Given the description of an element on the screen output the (x, y) to click on. 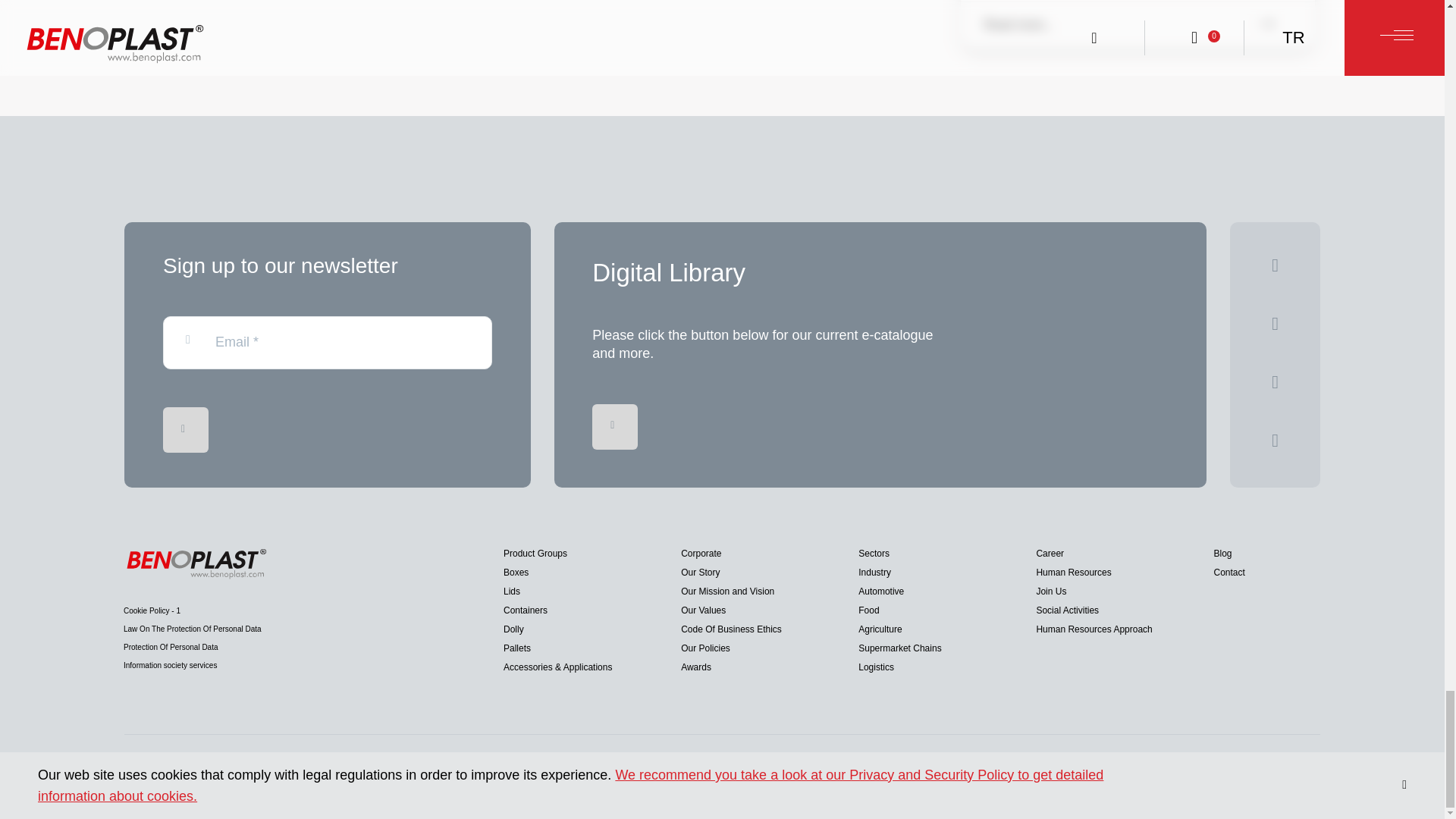
Fikirmod (1291, 776)
